Given the description of an element on the screen output the (x, y) to click on. 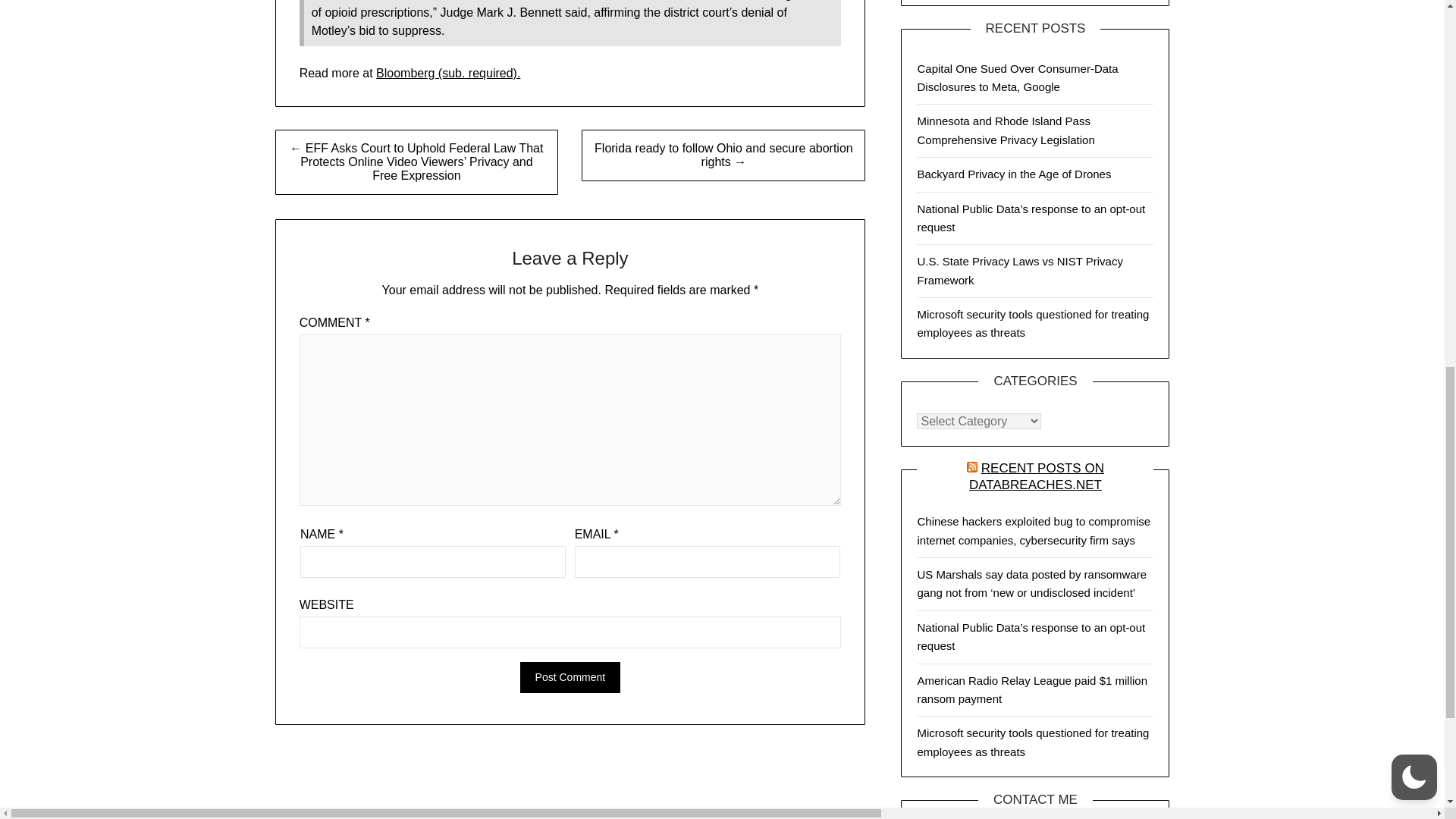
Post Comment (570, 676)
Backyard Privacy in the Age of Drones (1013, 173)
Post Comment (570, 676)
U.S. State Privacy Laws vs NIST Privacy Framework (1019, 269)
RECENT POSTS ON DATABREACHES.NET (1036, 476)
